Given the description of an element on the screen output the (x, y) to click on. 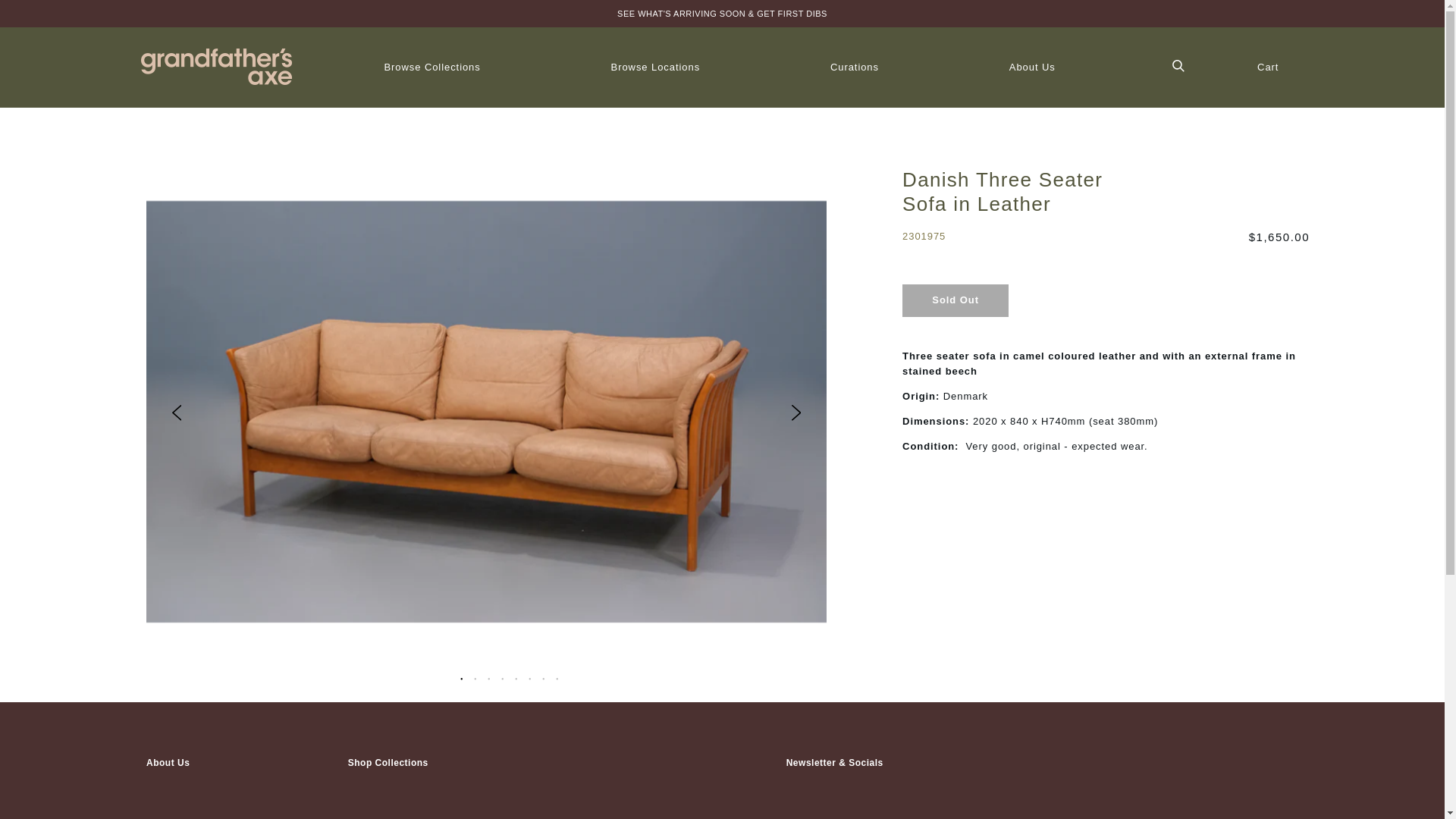
Curations (854, 66)
Browse Locations (655, 66)
Browse Collections (432, 66)
Cart (1267, 66)
About Us (1032, 66)
Arriving Soon: contact us for first dibs (722, 13)
